Given the description of an element on the screen output the (x, y) to click on. 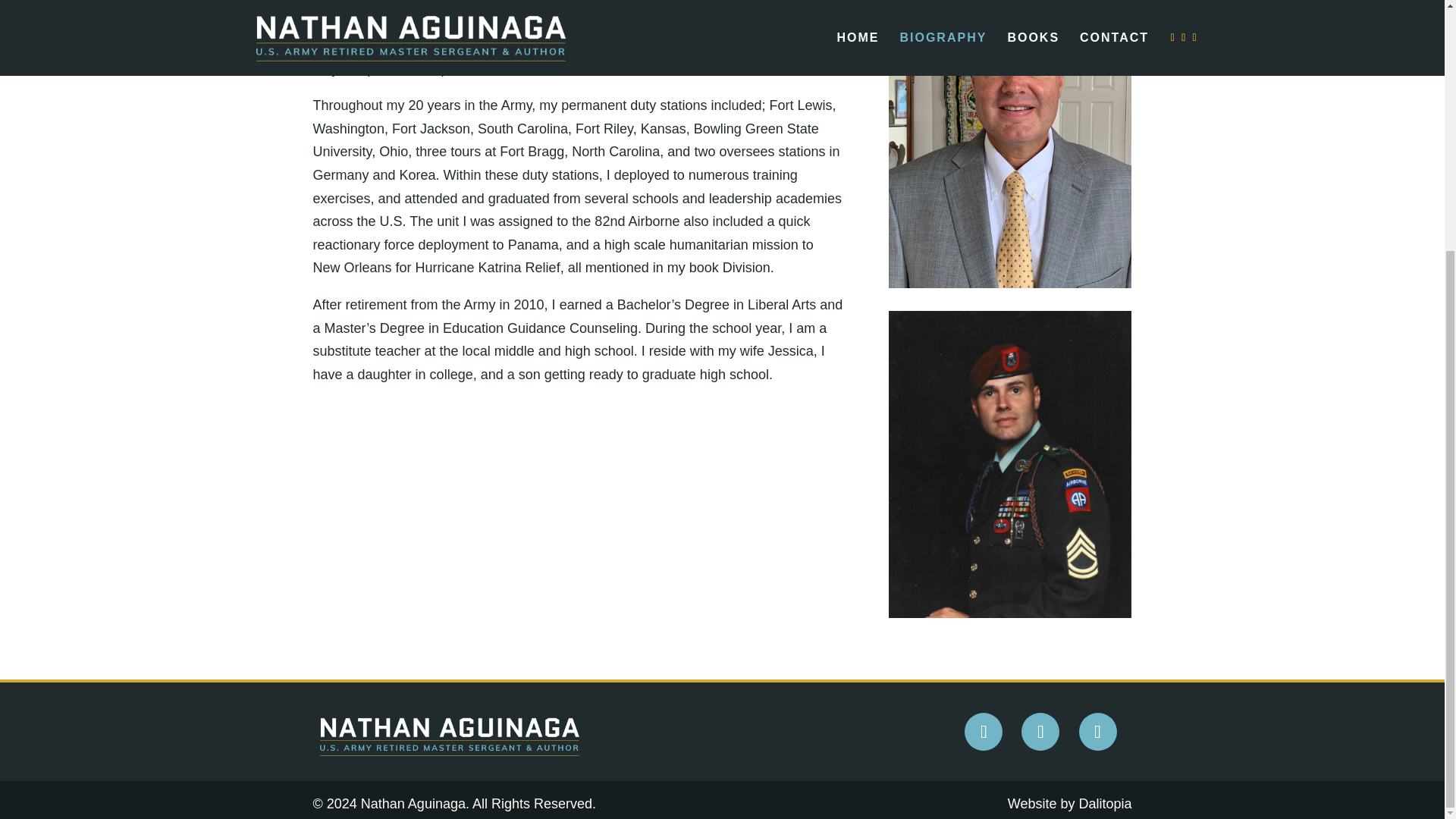
Dalitopia (1104, 803)
